Given the description of an element on the screen output the (x, y) to click on. 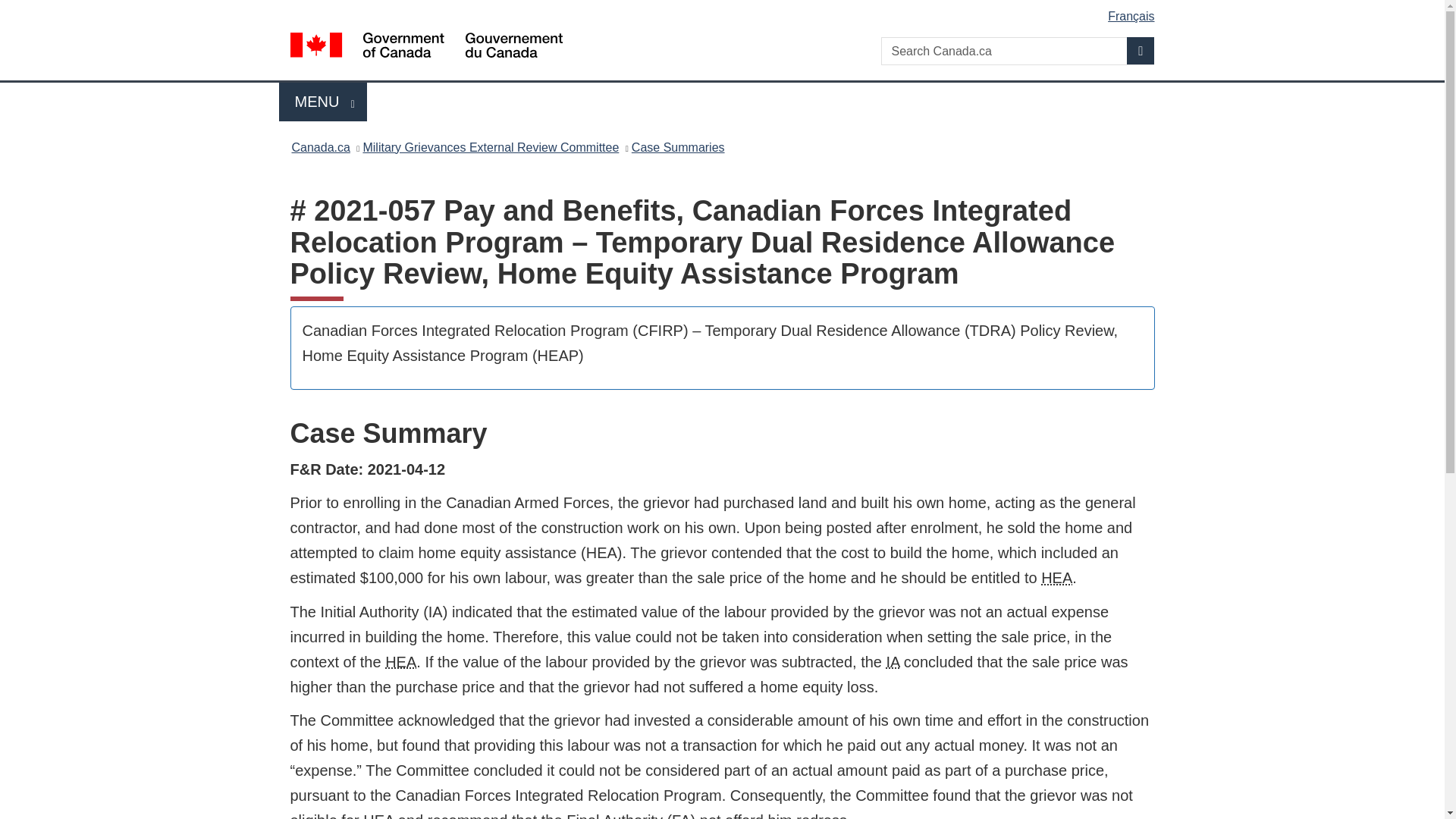
Canada.ca (320, 147)
Home equity assistance (400, 661)
Search (322, 101)
Case Summaries (1140, 50)
Home equity assistance (678, 147)
Initial Authority (1056, 577)
Home equity assistance (892, 661)
Skip to main content (377, 815)
Military Grievances External Review Committee (725, 11)
